Given the description of an element on the screen output the (x, y) to click on. 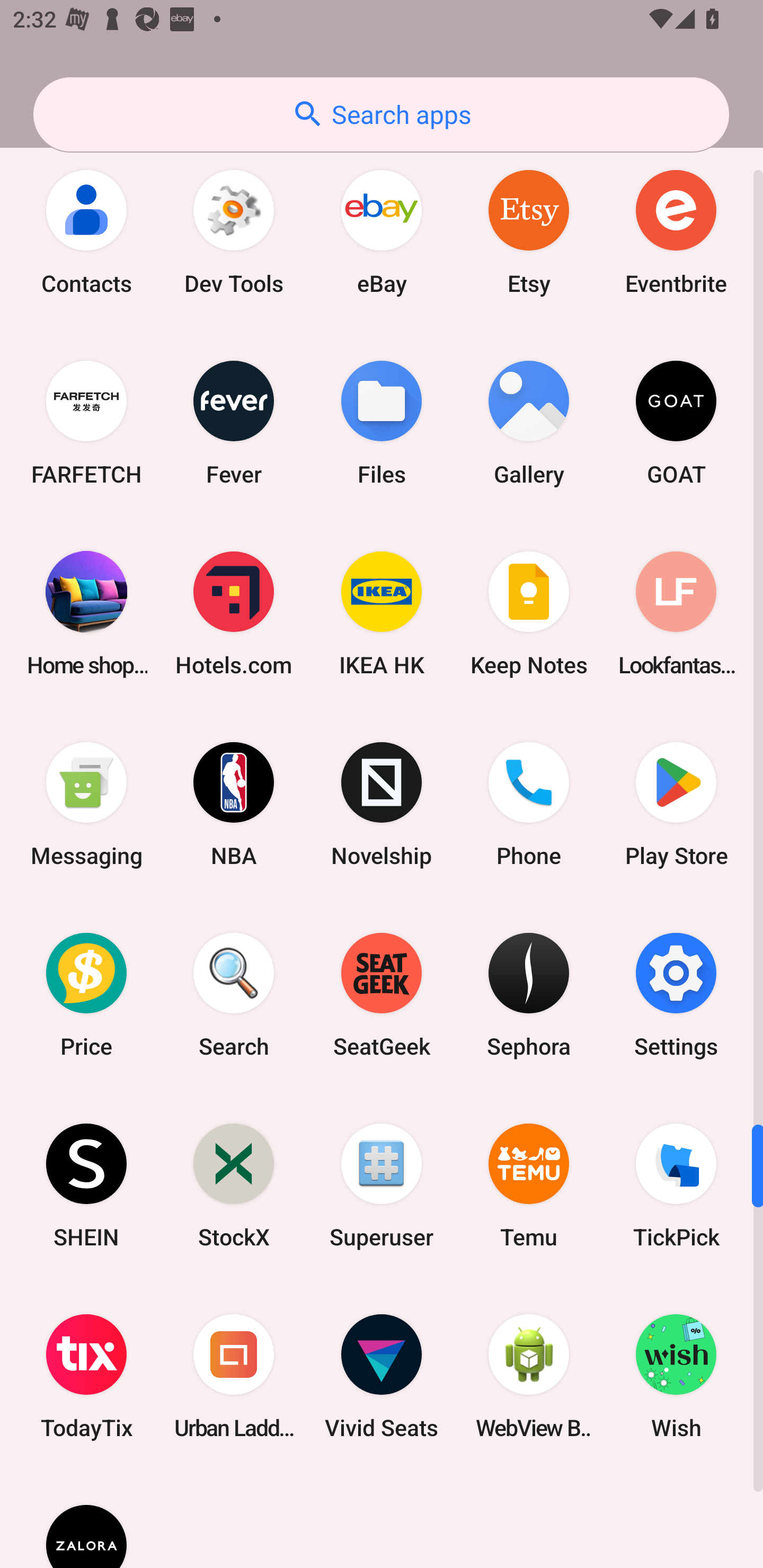
  Search apps (381, 114)
Contacts (86, 231)
Dev Tools (233, 231)
eBay (381, 231)
Etsy (528, 231)
Eventbrite (676, 231)
FARFETCH (86, 422)
Fever (233, 422)
Files (381, 422)
Gallery (528, 422)
GOAT (676, 422)
Home shopping (86, 612)
Hotels.com (233, 612)
IKEA HK (381, 612)
Keep Notes (528, 612)
Lookfantastic (676, 612)
Messaging (86, 804)
NBA (233, 804)
Novelship (381, 804)
Phone (528, 804)
Play Store (676, 804)
Price (86, 994)
Search (233, 994)
SeatGeek (381, 994)
Sephora (528, 994)
Settings (676, 994)
SHEIN (86, 1185)
StockX (233, 1185)
Superuser (381, 1185)
Temu (528, 1185)
TickPick (676, 1185)
TodayTix (86, 1376)
Urban Ladder (233, 1376)
Vivid Seats (381, 1376)
WebView Browser Tester (528, 1376)
Wish (676, 1376)
